Given the description of an element on the screen output the (x, y) to click on. 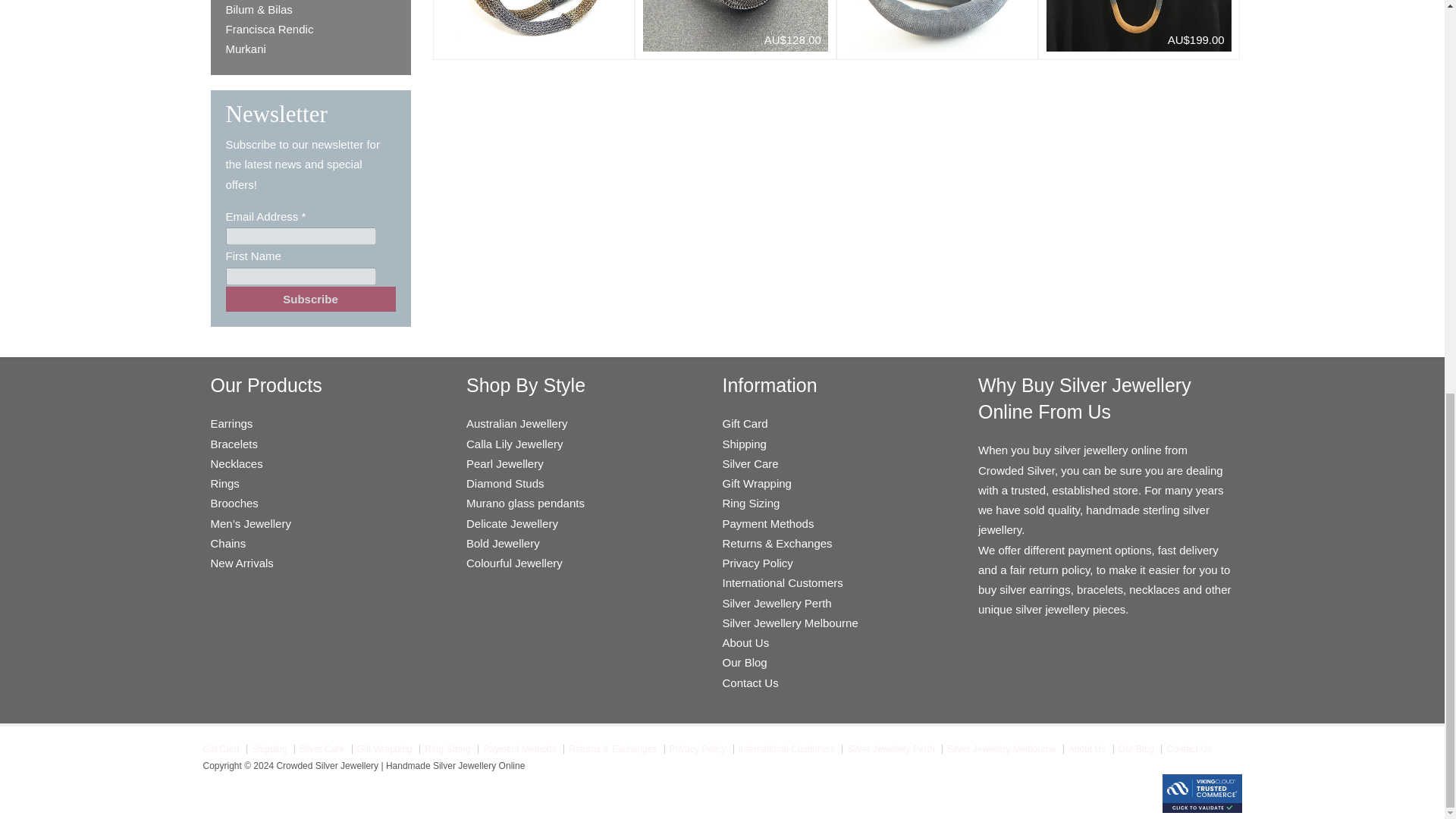
Milena Zu Vega ring (735, 25)
Subscribe (310, 299)
Dark Antares double bracelets (533, 25)
Gold Mirzam necklace (1138, 25)
Dark Mirzam mesh necklace (936, 25)
